Given the description of an element on the screen output the (x, y) to click on. 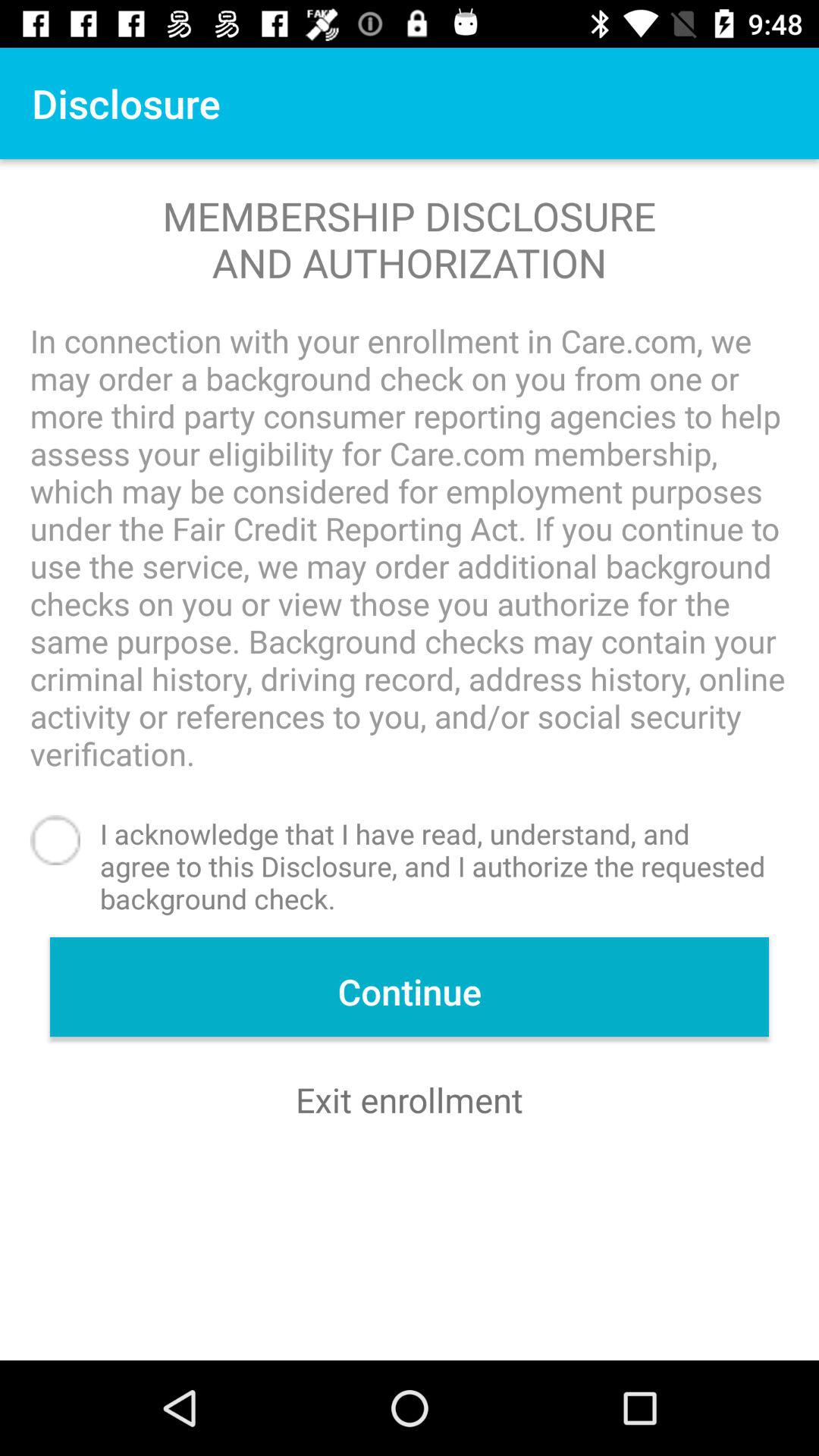
swipe until continue (409, 986)
